Given the description of an element on the screen output the (x, y) to click on. 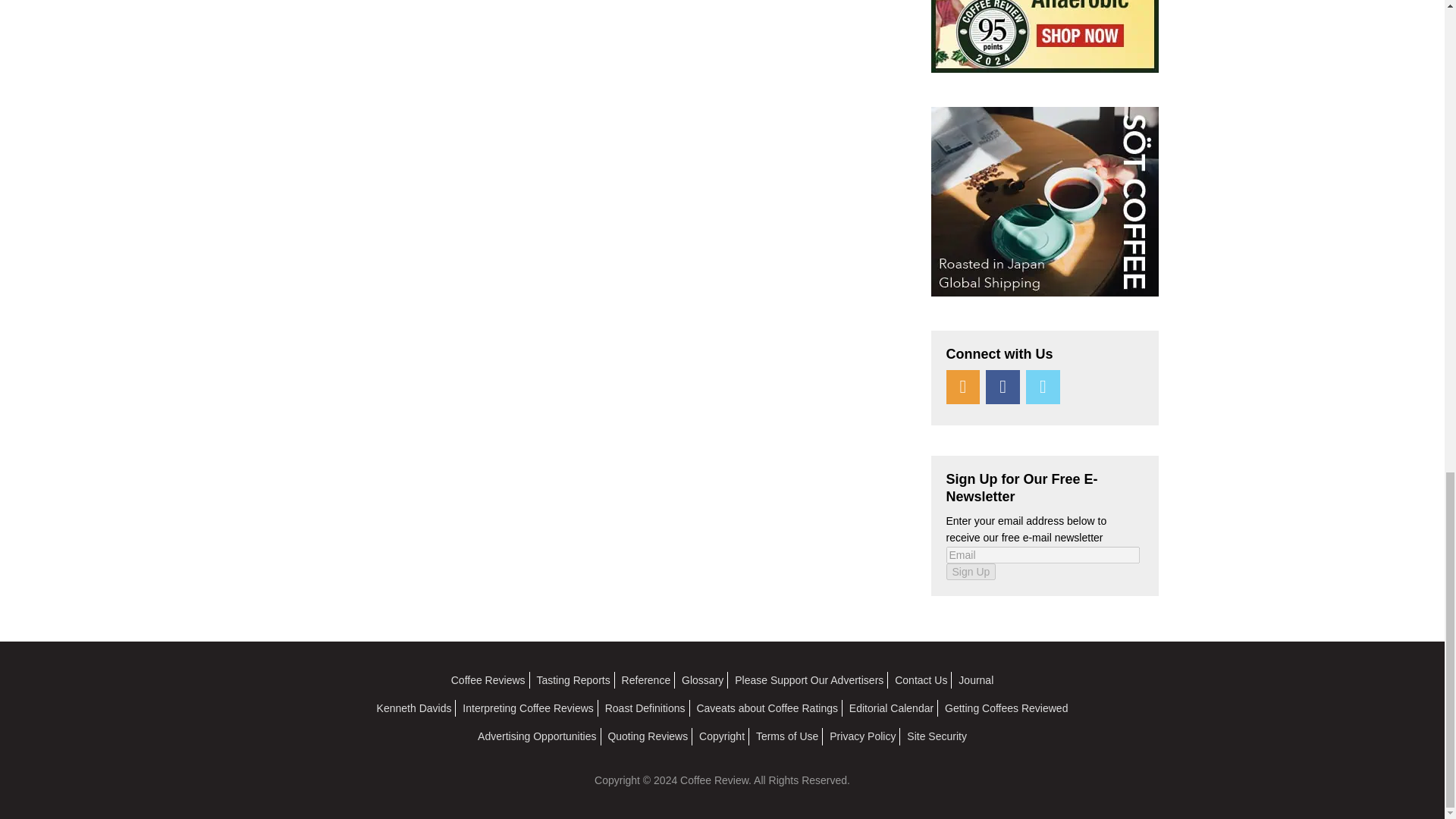
Twitter (1042, 387)
Facebook (1002, 387)
RSS (962, 387)
Sign Up (970, 571)
